Given the description of an element on the screen output the (x, y) to click on. 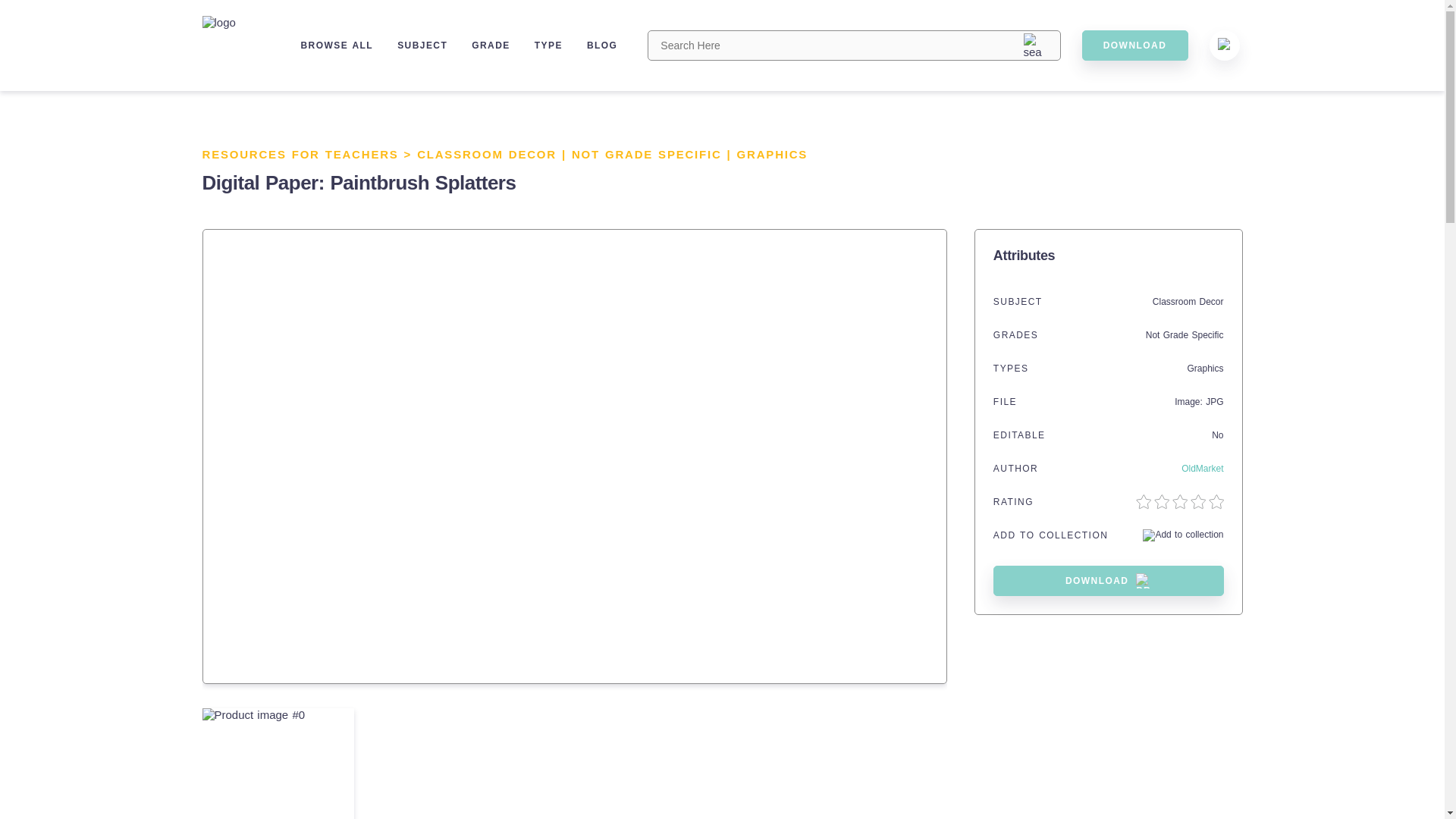
Not Grade Specific (1184, 335)
Classroom Decor (1188, 301)
DOWNLOAD (1108, 580)
Graphics (1204, 368)
NOT GRADE SPECIFIC (647, 154)
BLOG (601, 45)
RESOURCES FOR TEACHERS (299, 154)
GRAPHICS (772, 154)
CLASSROOM DECOR (486, 154)
OldMarket (1201, 468)
DOWNLOAD (1134, 45)
Image: JPG (1198, 401)
